Given the description of an element on the screen output the (x, y) to click on. 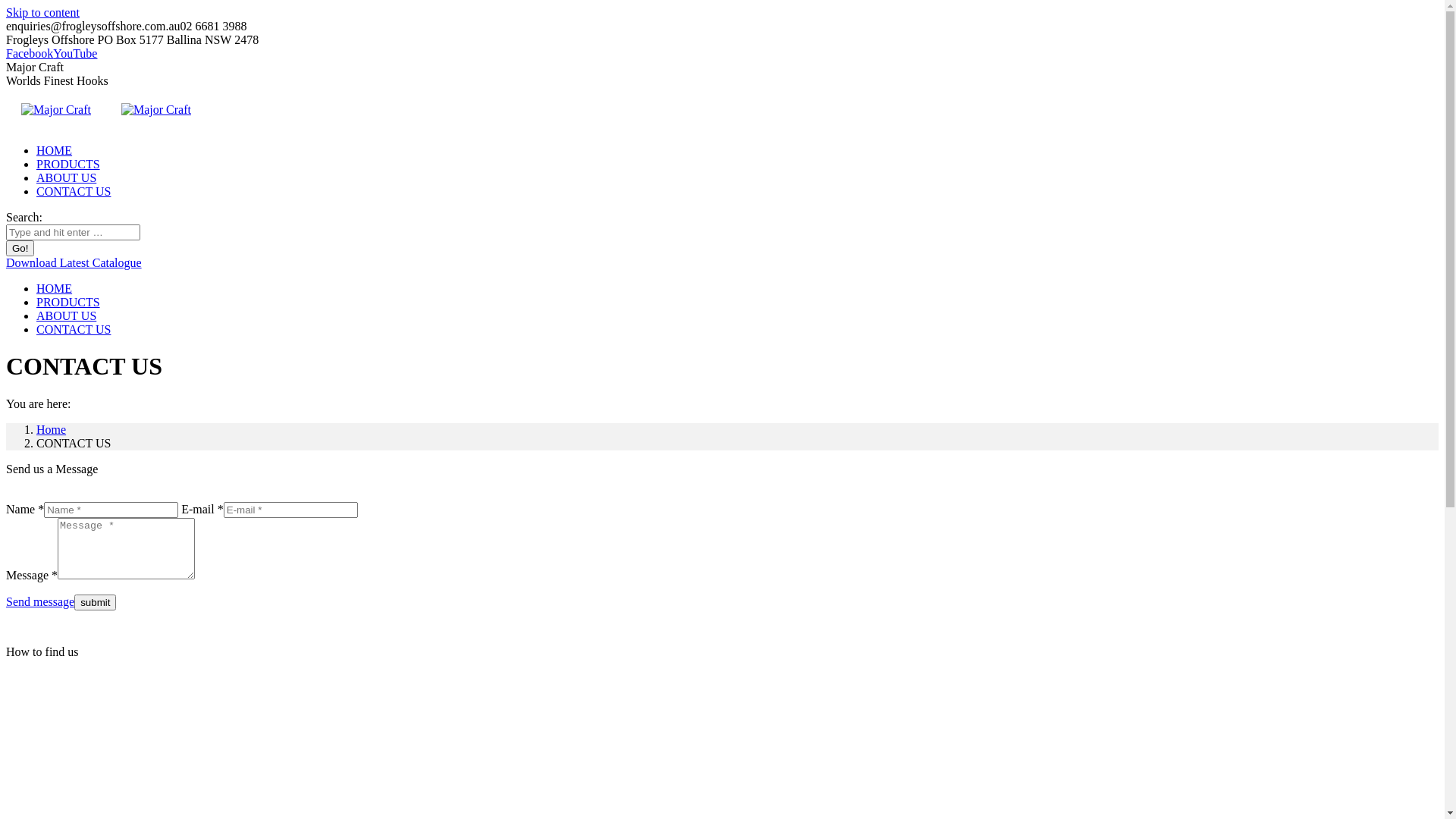
Download Latest Catalogue Element type: text (73, 262)
Facebook Element type: text (29, 53)
Skip to content Element type: text (42, 12)
CONTACT US Element type: text (73, 191)
YouTube Element type: text (75, 53)
Send message Element type: text (40, 601)
CONTACT US Element type: text (73, 329)
Go! Element type: text (20, 248)
ABOUT US Element type: text (66, 315)
PRODUCTS Element type: text (68, 301)
submit Element type: text (95, 602)
ABOUT US Element type: text (66, 177)
PRODUCTS Element type: text (68, 163)
HOME Element type: text (54, 150)
Home Element type: text (50, 429)
HOME Element type: text (54, 288)
